Given the description of an element on the screen output the (x, y) to click on. 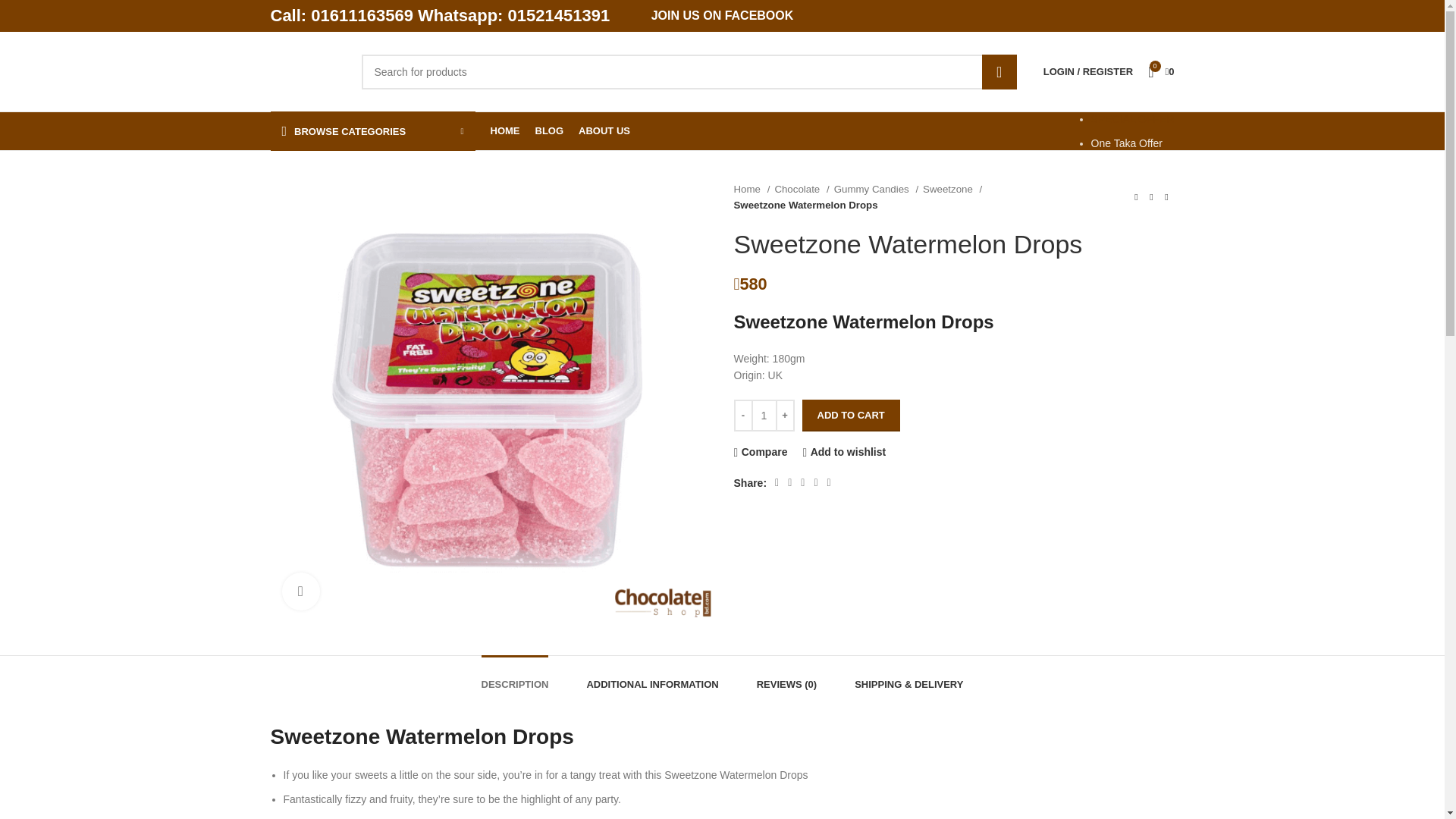
SEARCH (998, 71)
Search for products (688, 71)
Shopping cart (1160, 71)
JOIN US ON FACEBOOK (721, 16)
My account (1087, 71)
